Given the description of an element on the screen output the (x, y) to click on. 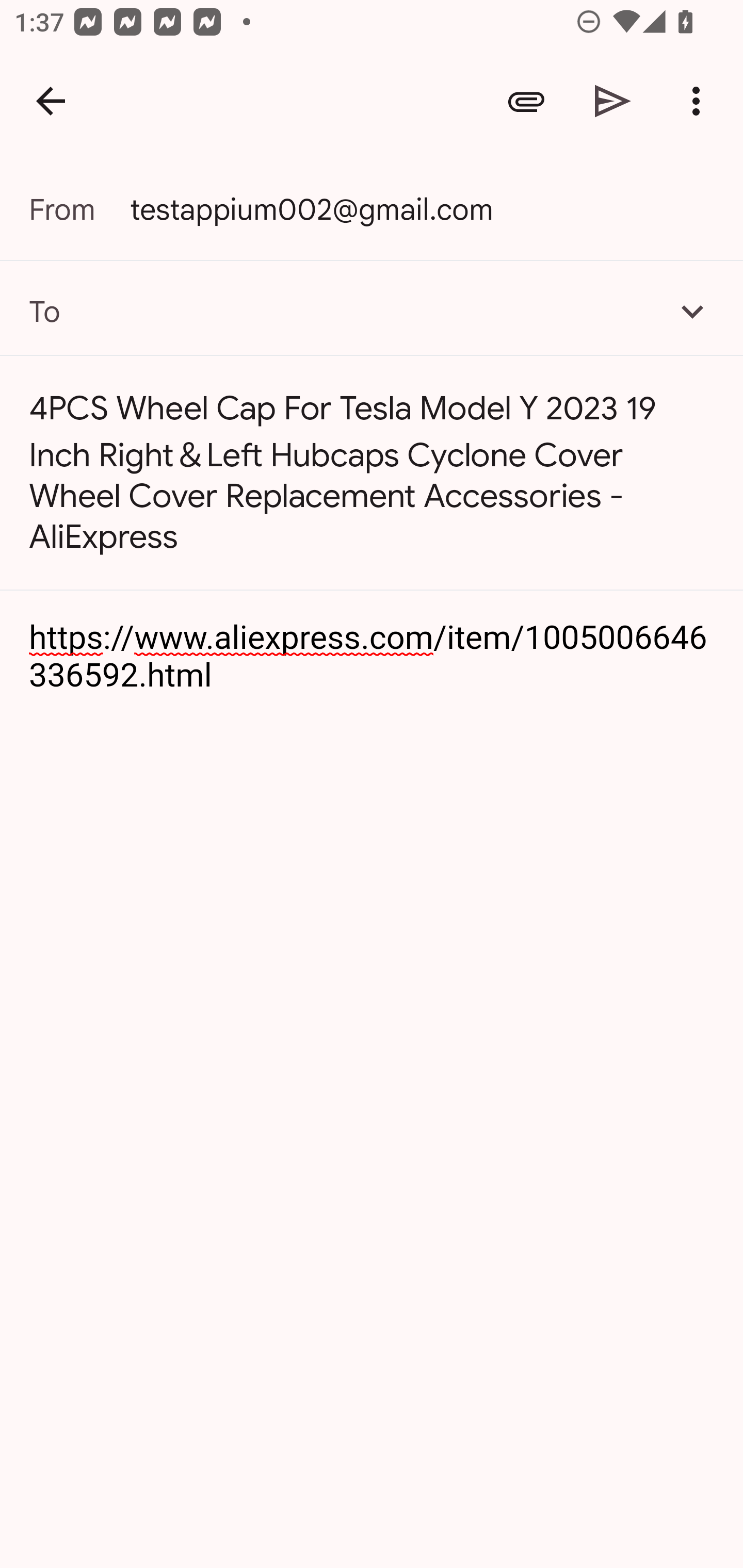
Navigate up (50, 101)
Attach file (525, 101)
Send (612, 101)
More options (699, 101)
From (79, 209)
Add Cc/Bcc (692, 311)
